Given the description of an element on the screen output the (x, y) to click on. 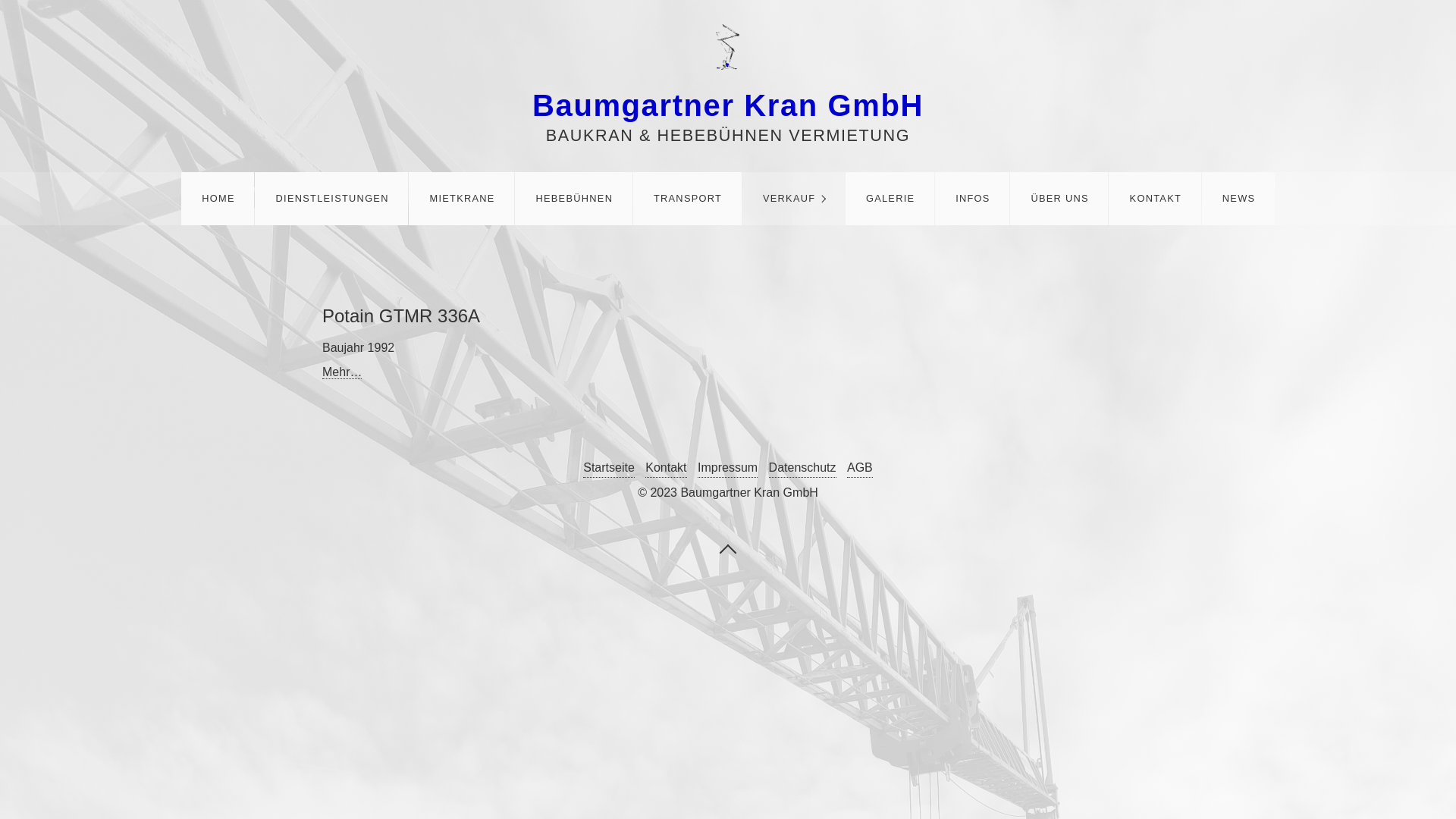
KONTAKT Element type: text (1154, 198)
INFOS Element type: text (972, 198)
MIETKRANE Element type: text (461, 198)
Nach oben / To top Element type: hover (727, 548)
Impressum Element type: text (727, 467)
Kontakt Element type: text (665, 467)
Baumgartner Kran GmbH Element type: text (727, 105)
GALERIE Element type: text (889, 198)
Datenschutz Element type: text (802, 467)
DIENSTLEISTUNGEN Element type: text (330, 198)
NEWS Element type: text (1237, 198)
HOME Element type: text (217, 198)
AGB Element type: text (859, 467)
Startseite Element type: text (608, 467)
VERKAUF Element type: text (793, 198)
TRANSPORT Element type: text (687, 198)
